Given the description of an element on the screen output the (x, y) to click on. 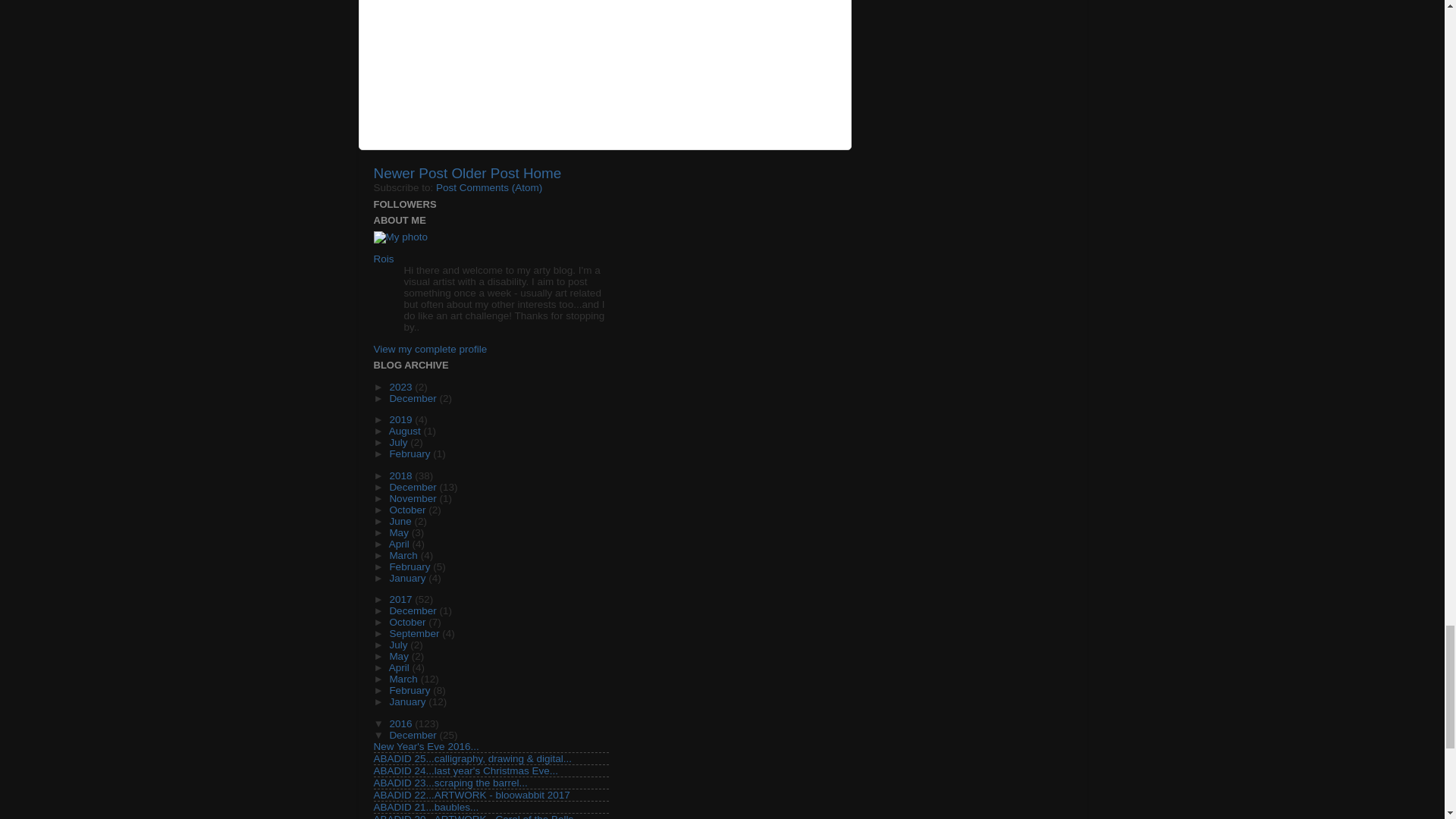
Newer Post (409, 172)
Older Post (484, 172)
